Given the description of an element on the screen output the (x, y) to click on. 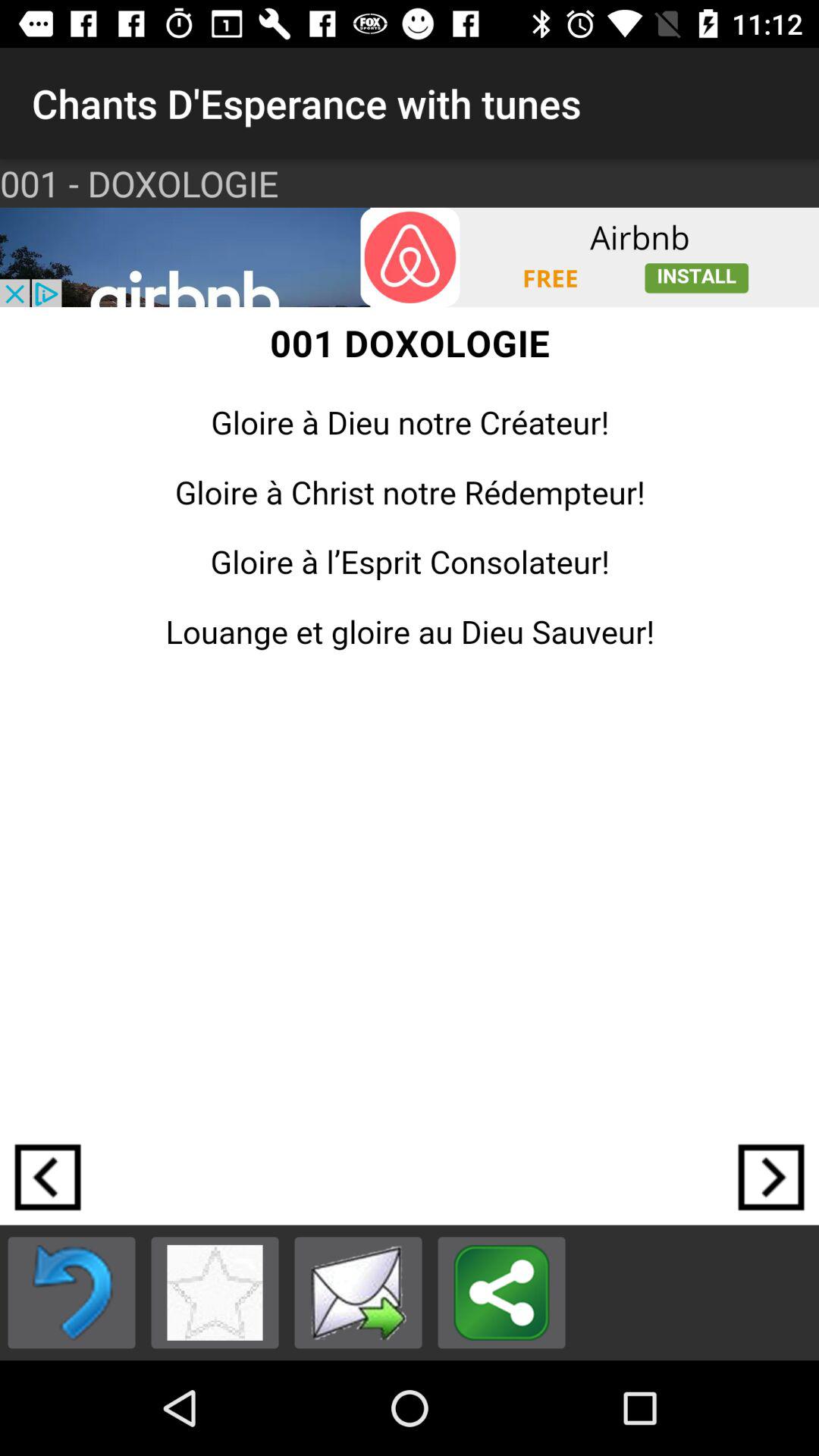
go back (71, 1292)
